Given the description of an element on the screen output the (x, y) to click on. 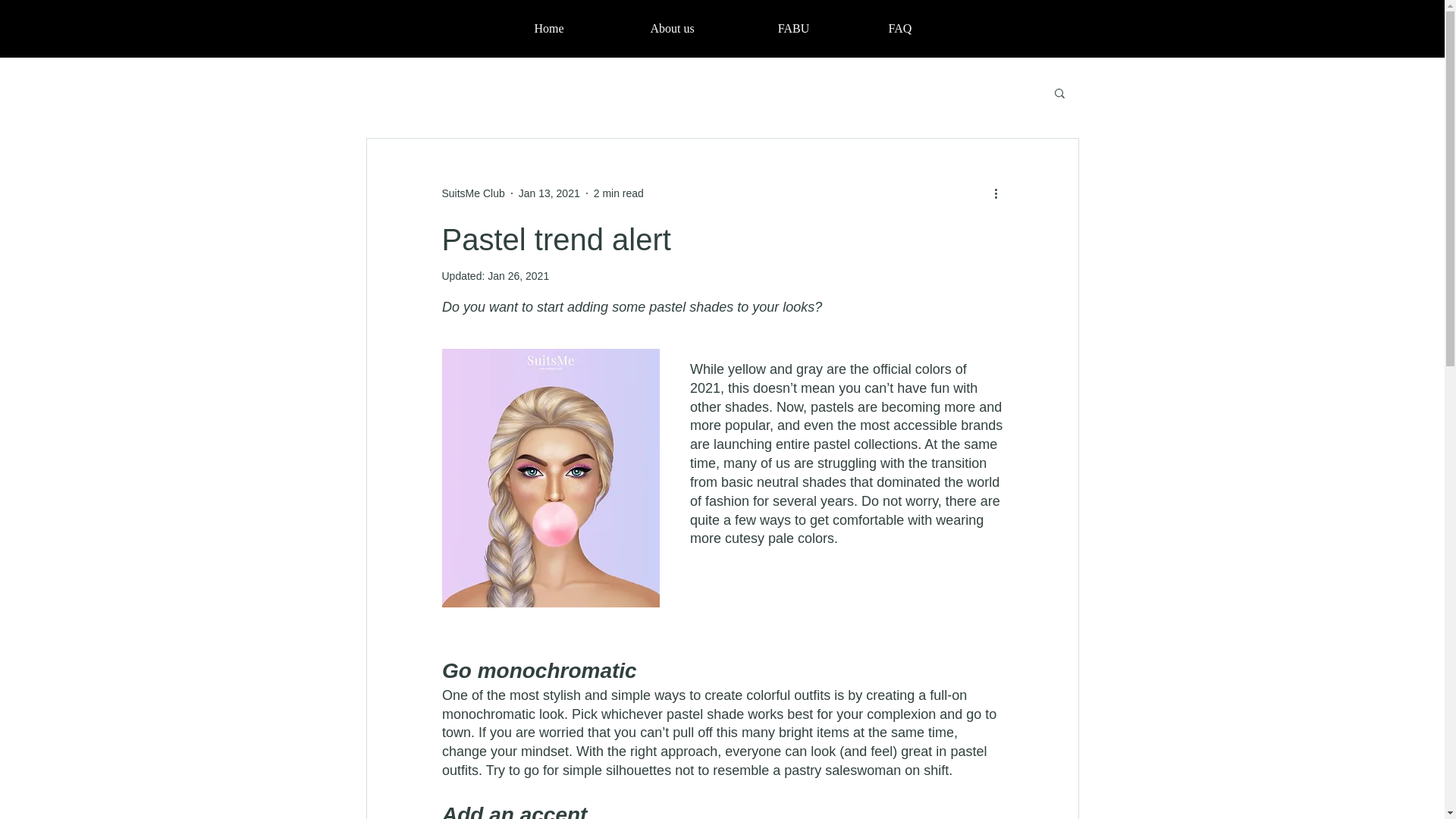
Jan 26, 2021 (517, 275)
SuitsMe Club (472, 192)
FABU (793, 28)
SuitsMe Club (472, 192)
Jan 13, 2021 (548, 192)
About us (672, 28)
2 min read (618, 192)
Home (548, 28)
FAQ (900, 28)
